Given the description of an element on the screen output the (x, y) to click on. 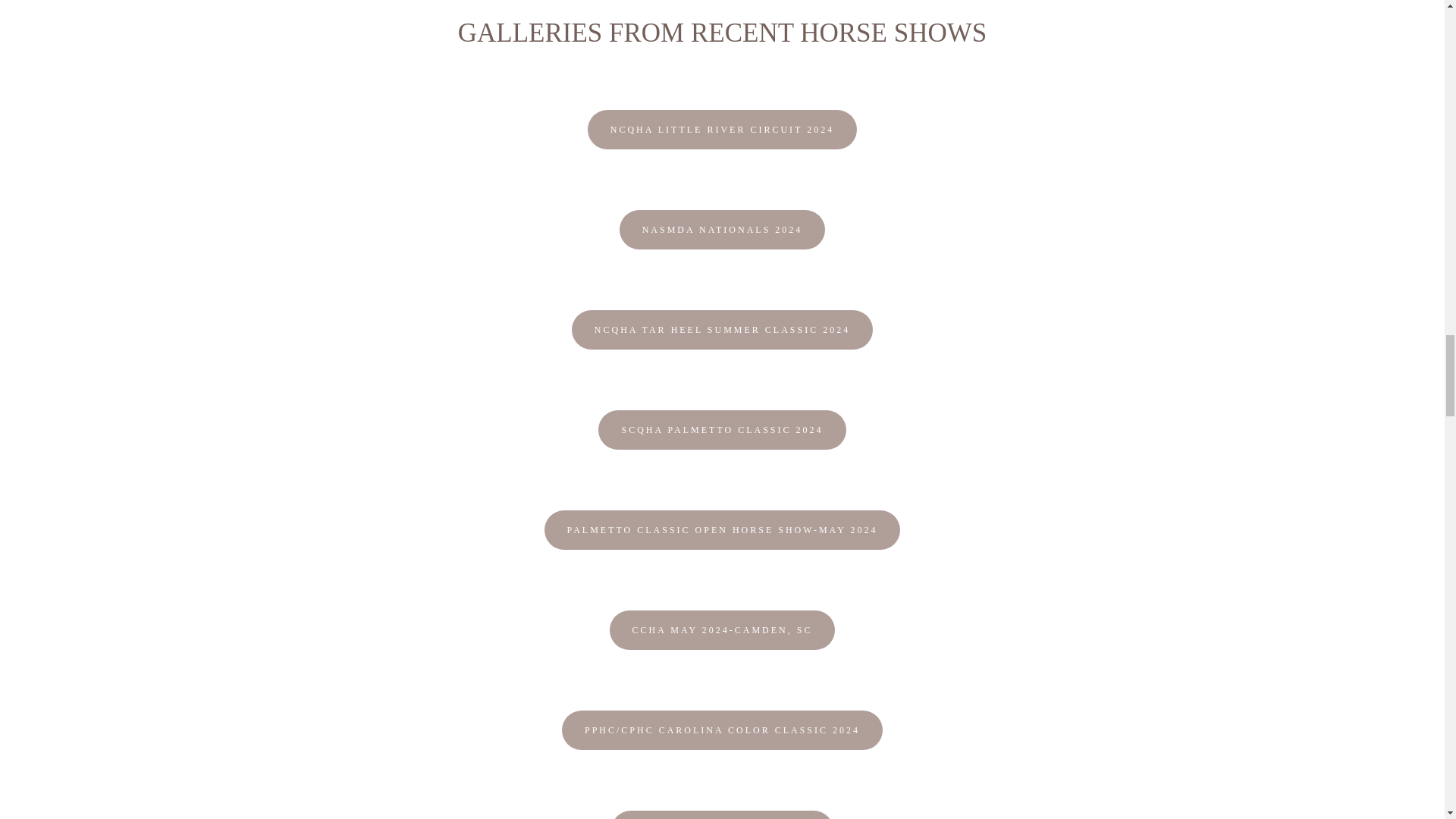
PALMETTO CLASSIC OPEN HORSE SHOW-MAY 2024 (722, 529)
NASMDA NATIONALS 2024 (722, 229)
NCQHA TAR HEEL SUMMER CLASSIC 2024 (722, 329)
CCHA MAY 2024-CAMDEN, SC (722, 630)
NCQHA LITTLE RIVER CIRCUIT 2024 (722, 129)
SCQHA PALMETTO CLASSIC 2024 (721, 429)
PPHC MARCH MADNESS 2024 (721, 814)
